Given the description of an element on the screen output the (x, y) to click on. 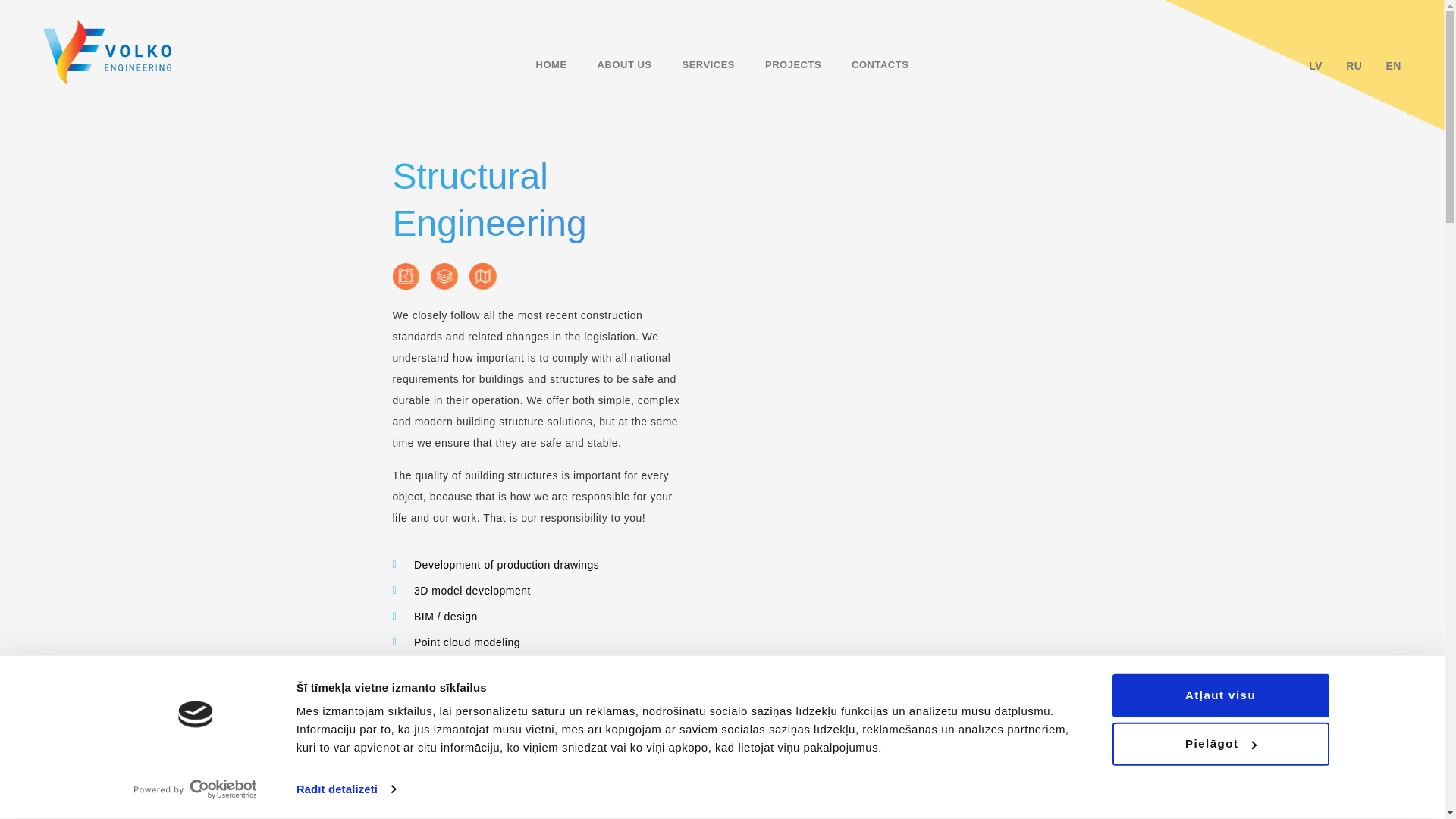
ABOUT US (624, 65)
HOME (551, 65)
SERVICES (708, 65)
